Given the description of an element on the screen output the (x, y) to click on. 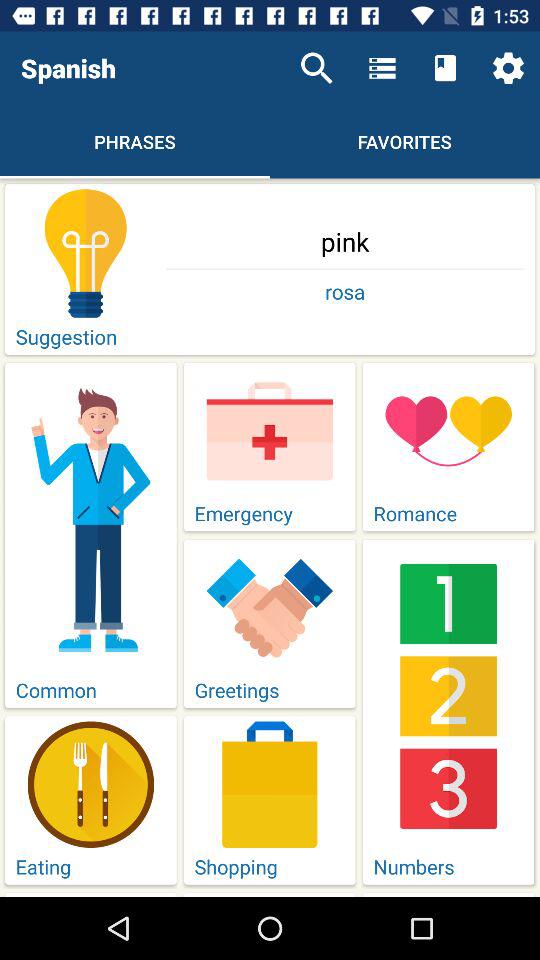
choose the icon above pink item (508, 67)
